Given the description of an element on the screen output the (x, y) to click on. 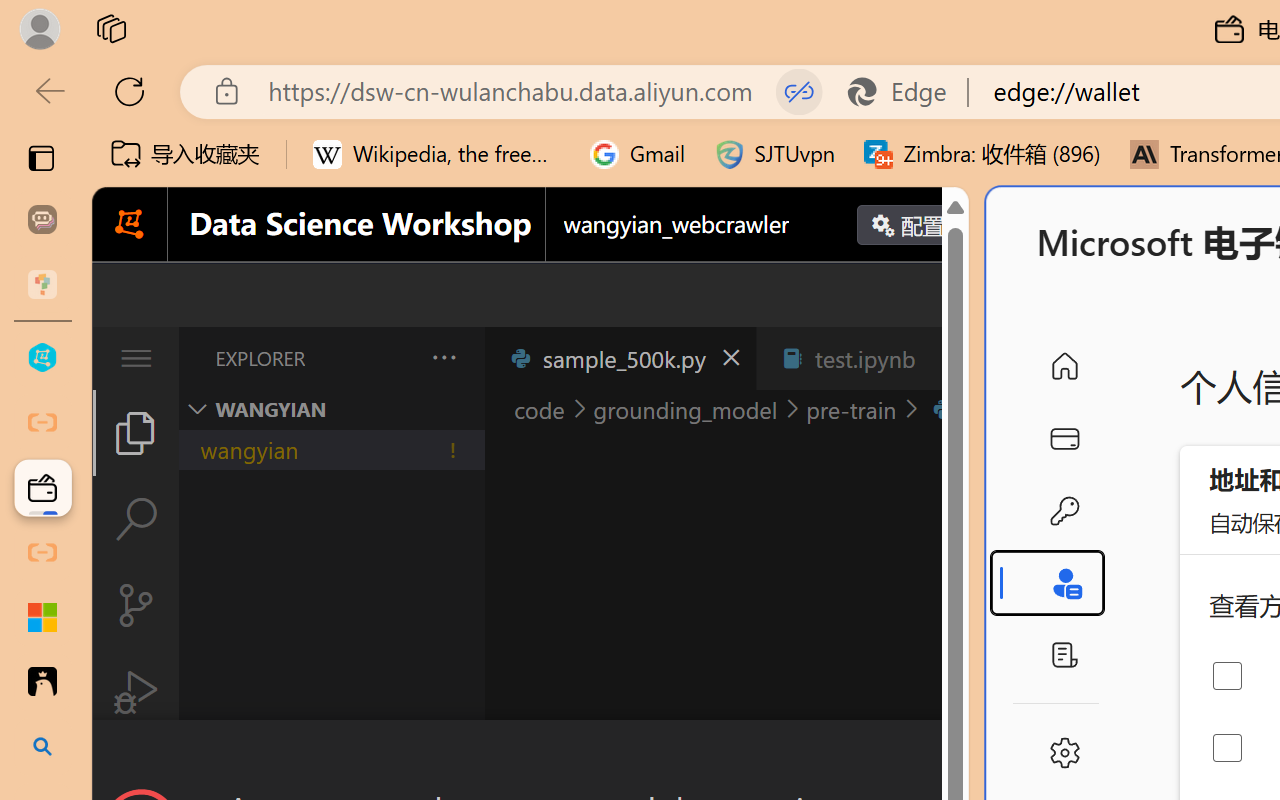
Explorer (Ctrl+Shift+E) (135, 432)
Wikipedia, the free encyclopedia (437, 154)
Close (Ctrl+F4) (946, 358)
Application Menu (135, 358)
Class: actions-container (529, 756)
SJTUvpn (774, 154)
Explorer actions (391, 358)
